Given the description of an element on the screen output the (x, y) to click on. 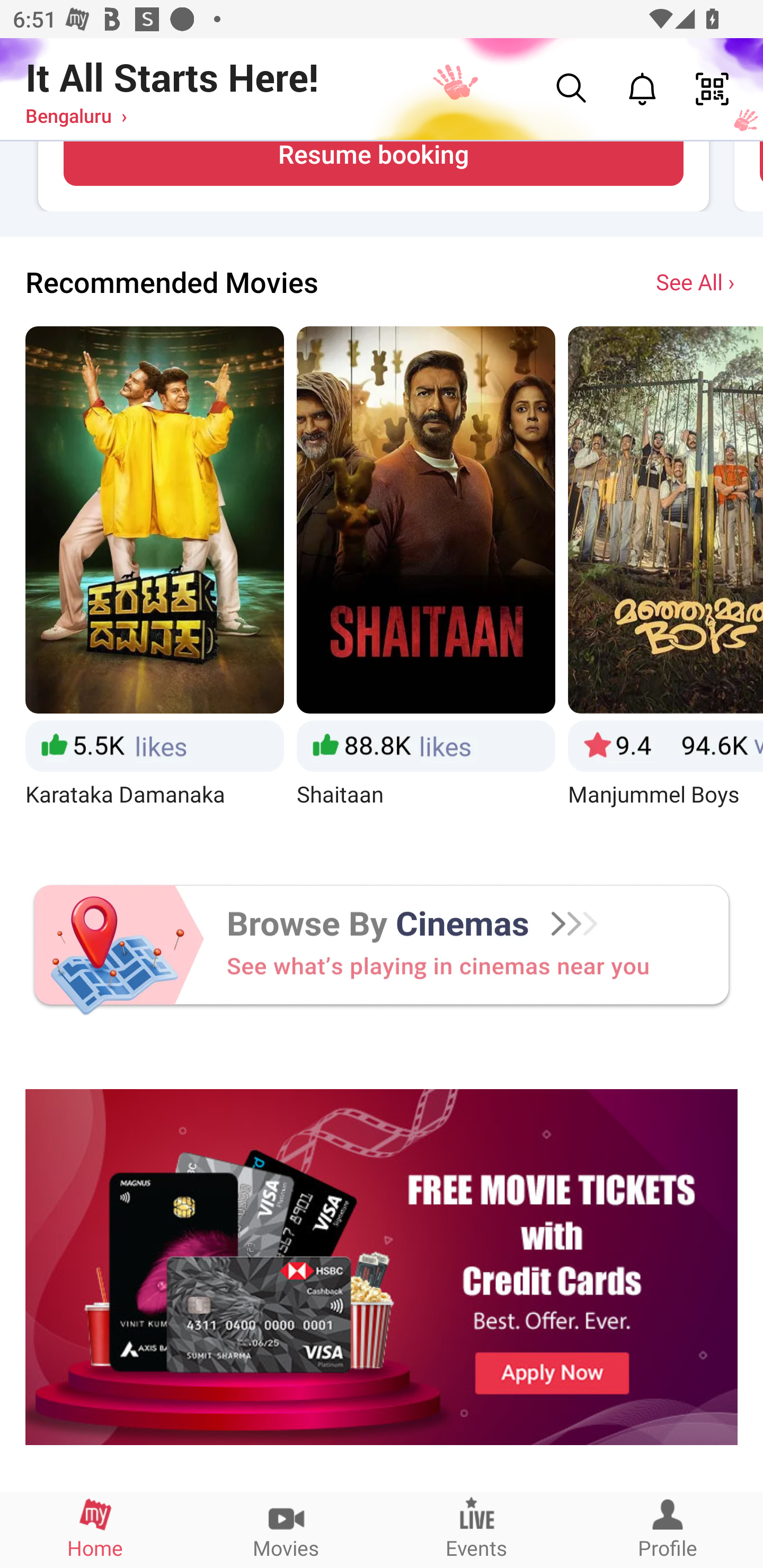
Bengaluru  › (76, 114)
Resume booking (373, 163)
See All › (696, 281)
Karataka Damanaka (154, 583)
Shaitaan (425, 583)
Manjummel Boys (665, 583)
Home (95, 1529)
Movies (285, 1529)
Events (476, 1529)
Profile (667, 1529)
